Given the description of an element on the screen output the (x, y) to click on. 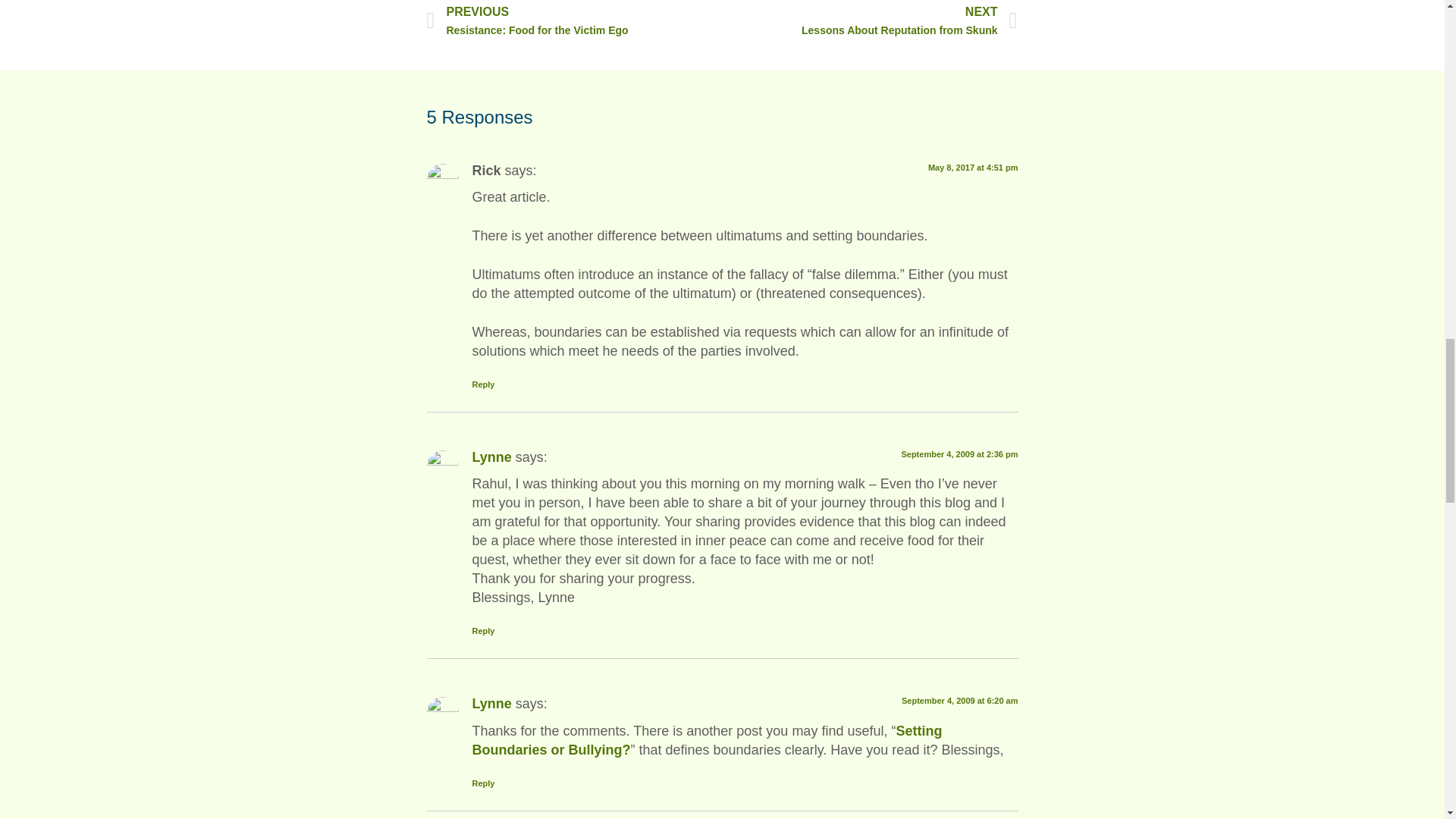
September 4, 2009 at 2:36 pm (959, 453)
September 4, 2009 at 6:20 am (959, 700)
Lynne (574, 21)
Setting Boundaries or Bullying? (491, 703)
Reply (706, 740)
Reply (483, 630)
Lynne (483, 782)
Reply (491, 457)
